Given the description of an element on the screen output the (x, y) to click on. 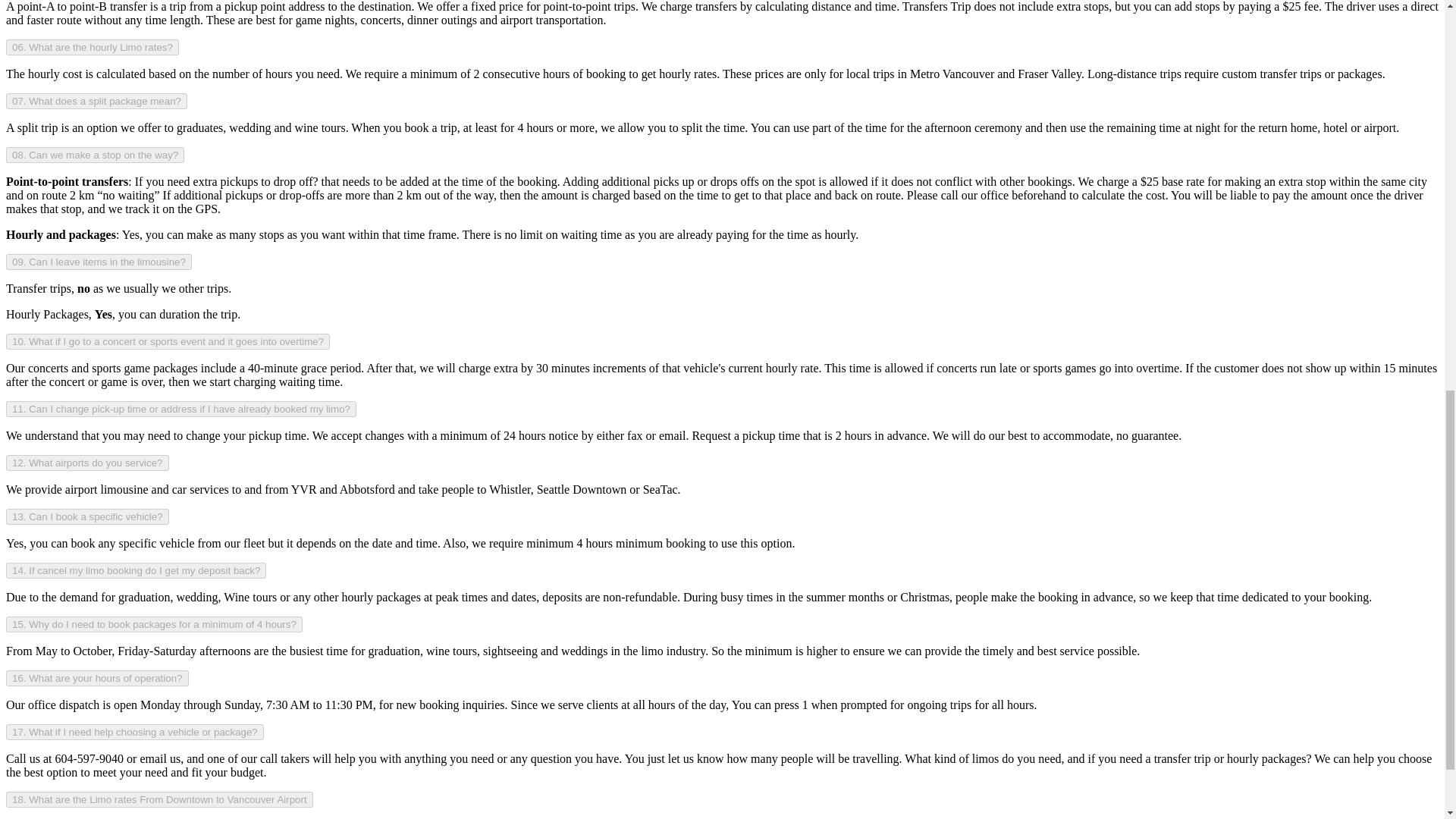
07. What does a split package mean? (96, 100)
06. What are the hourly Limo rates? (92, 47)
09. Can I leave items in the limousine? (98, 261)
08. Can we make a stop on the way? (94, 154)
